Given the description of an element on the screen output the (x, y) to click on. 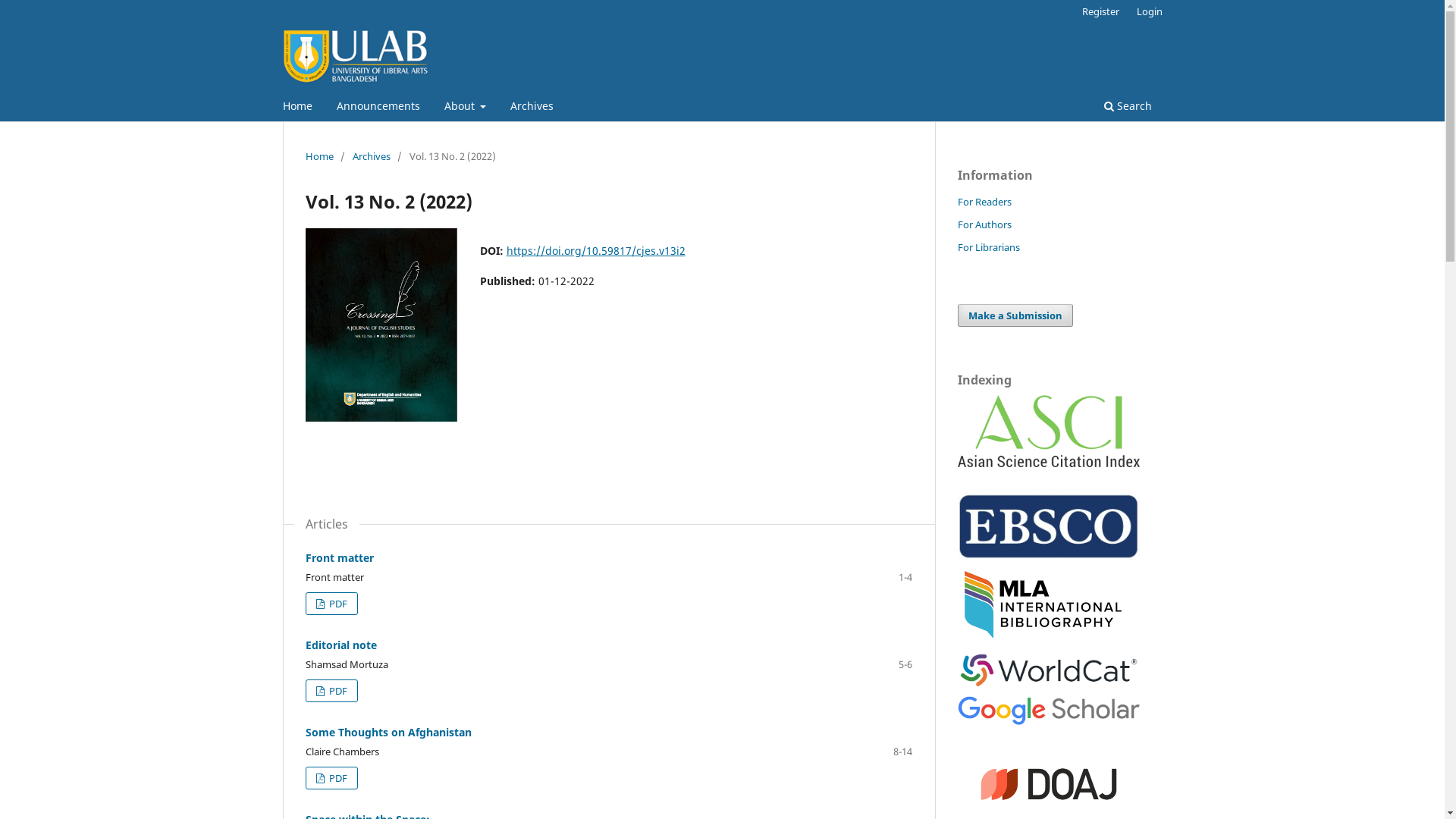
Home Element type: text (297, 107)
Some Thoughts on Afghanistan Element type: text (387, 731)
Search Element type: text (1127, 107)
Editorial note Element type: text (340, 644)
For Authors Element type: text (983, 224)
For Readers Element type: text (983, 201)
PDF Element type: text (330, 603)
For Librarians Element type: text (988, 247)
Home Element type: text (318, 155)
https://doi.org/10.59817/cjes.v13i2 Element type: text (595, 250)
PDF Element type: text (330, 777)
PDF Element type: text (330, 690)
Make a Submission Element type: text (1014, 315)
Archives Element type: text (370, 155)
Archives Element type: text (531, 107)
Announcements Element type: text (377, 107)
About Element type: text (464, 107)
Login Element type: text (1149, 11)
Register Element type: text (1100, 11)
Front matter Element type: text (338, 557)
